Given the description of an element on the screen output the (x, y) to click on. 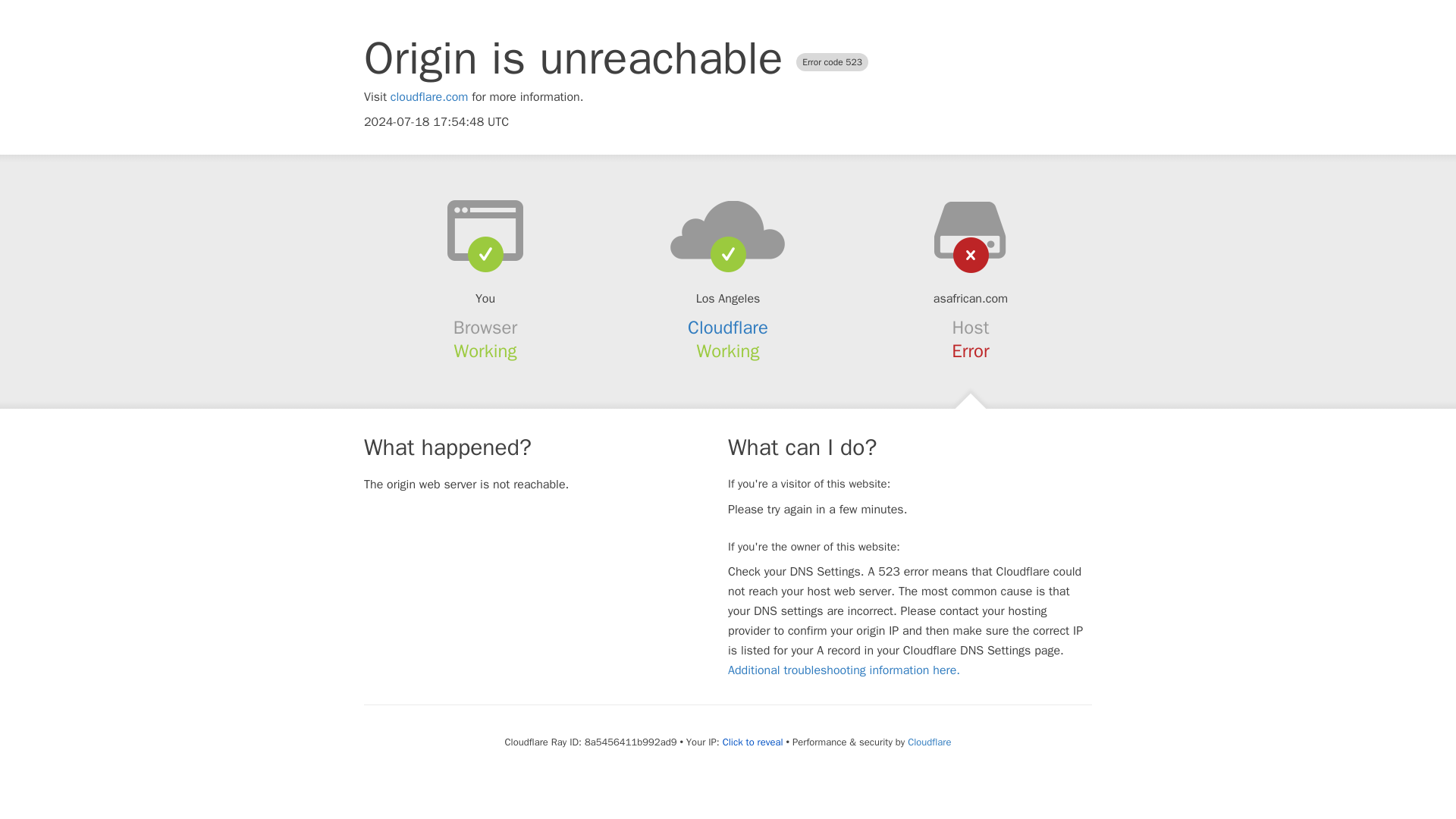
cloudflare.com (429, 96)
Cloudflare (727, 327)
Additional troubleshooting information here. (843, 670)
Cloudflare (928, 741)
Click to reveal (752, 742)
